Given the description of an element on the screen output the (x, y) to click on. 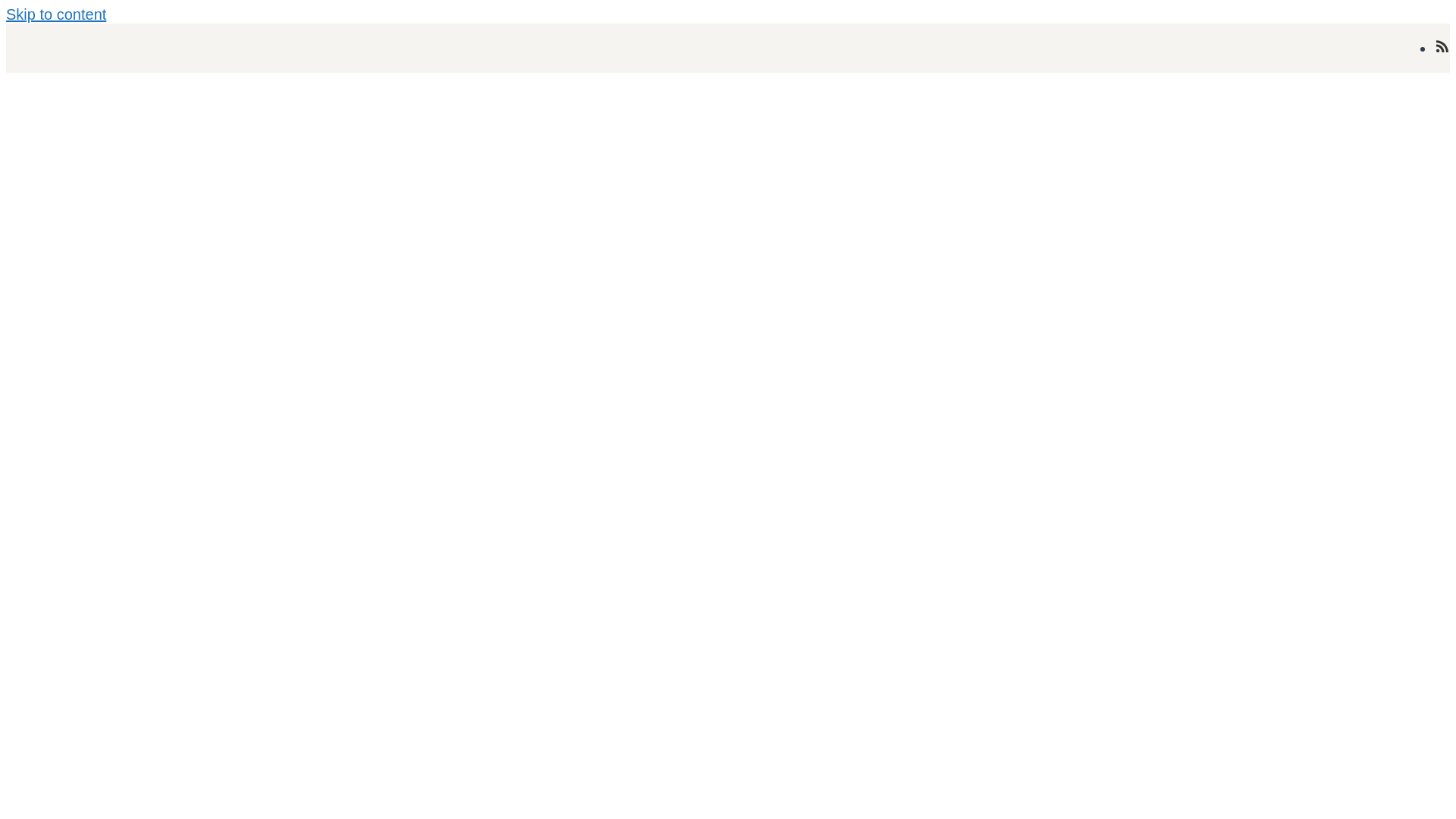
Skip to content (55, 13)
